Given the description of an element on the screen output the (x, y) to click on. 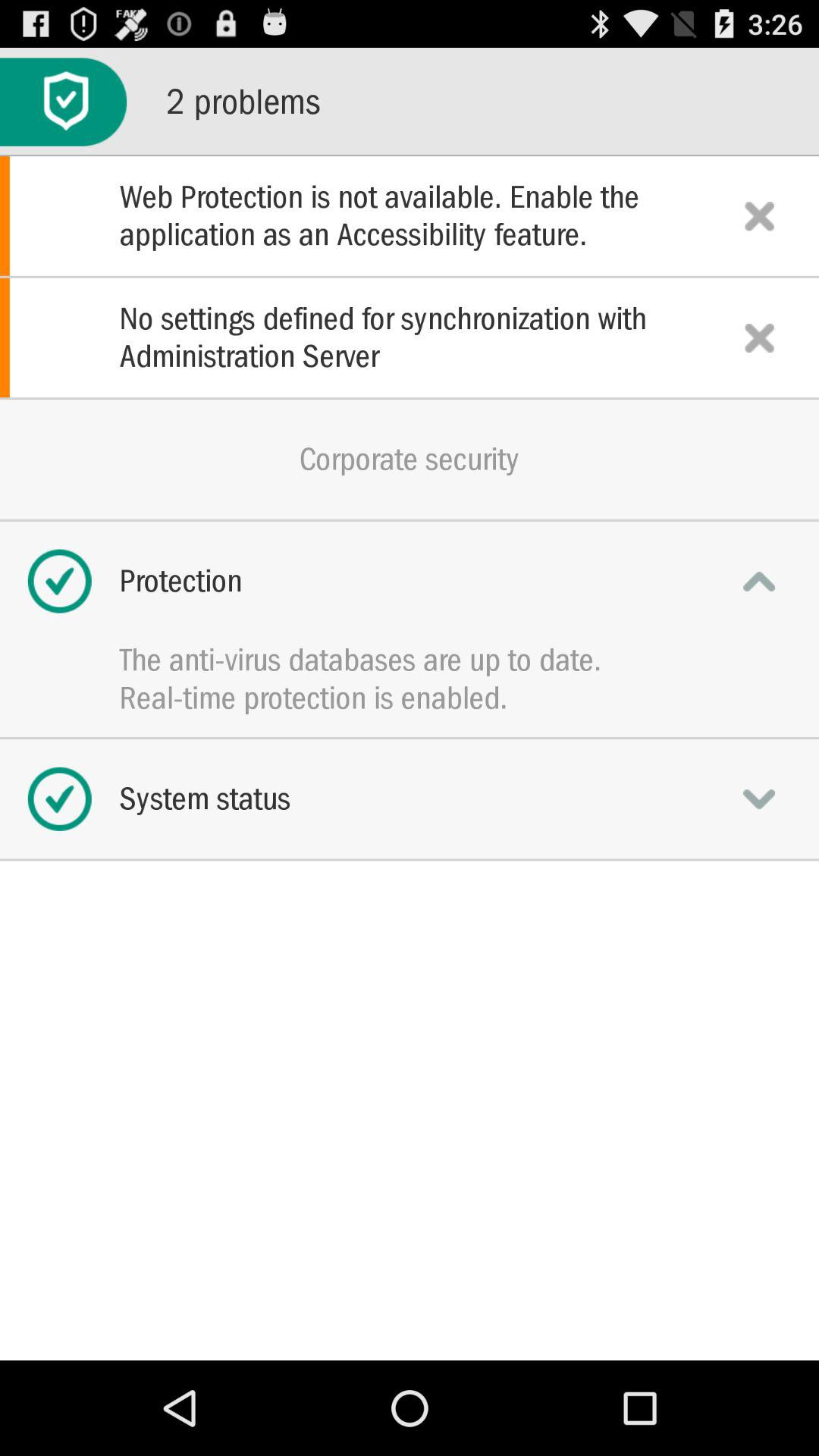
hide status (759, 580)
